Given the description of an element on the screen output the (x, y) to click on. 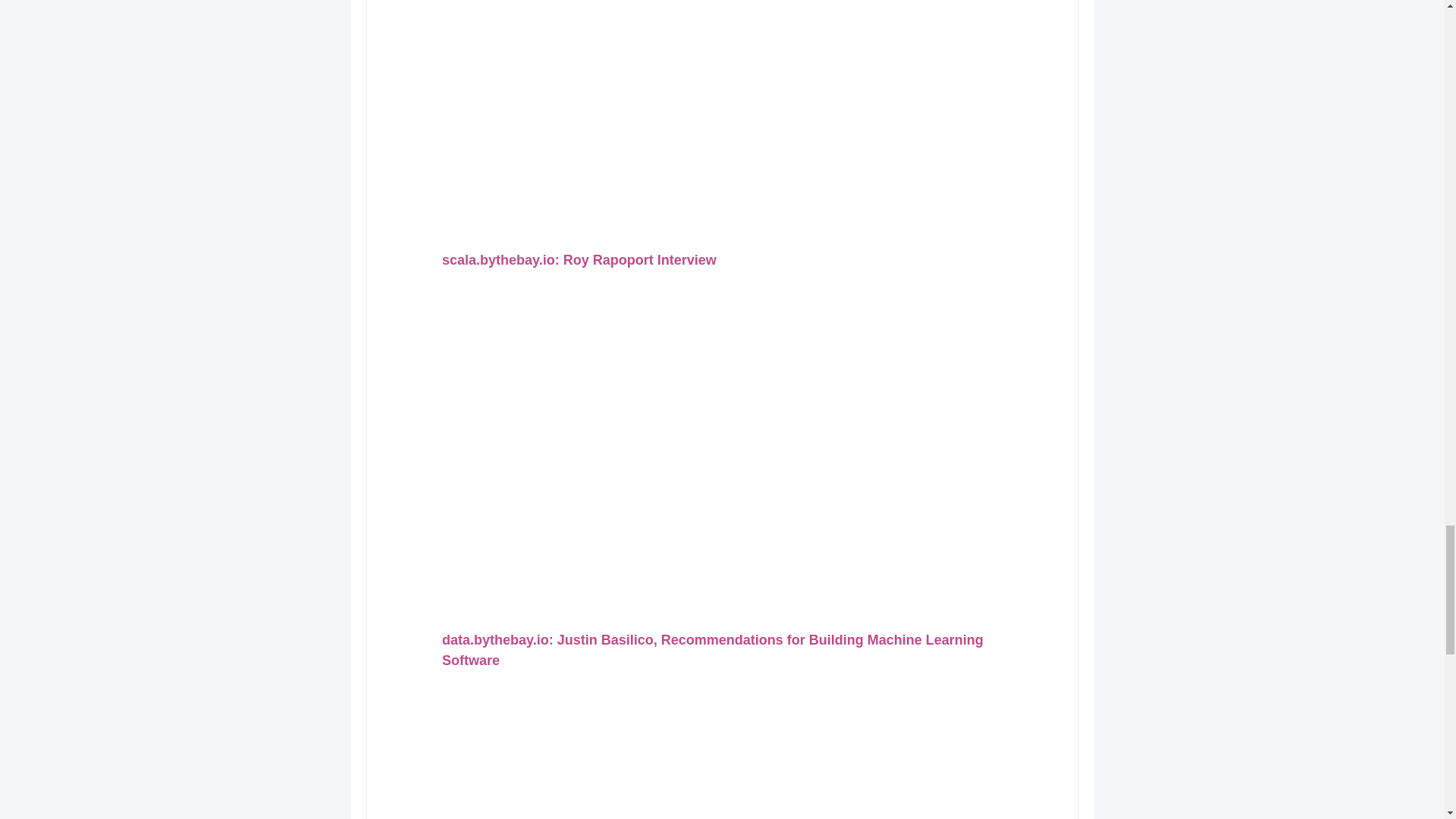
scala.bythebay.io: Roy Rapoport Interview (578, 258)
